Given the description of an element on the screen output the (x, y) to click on. 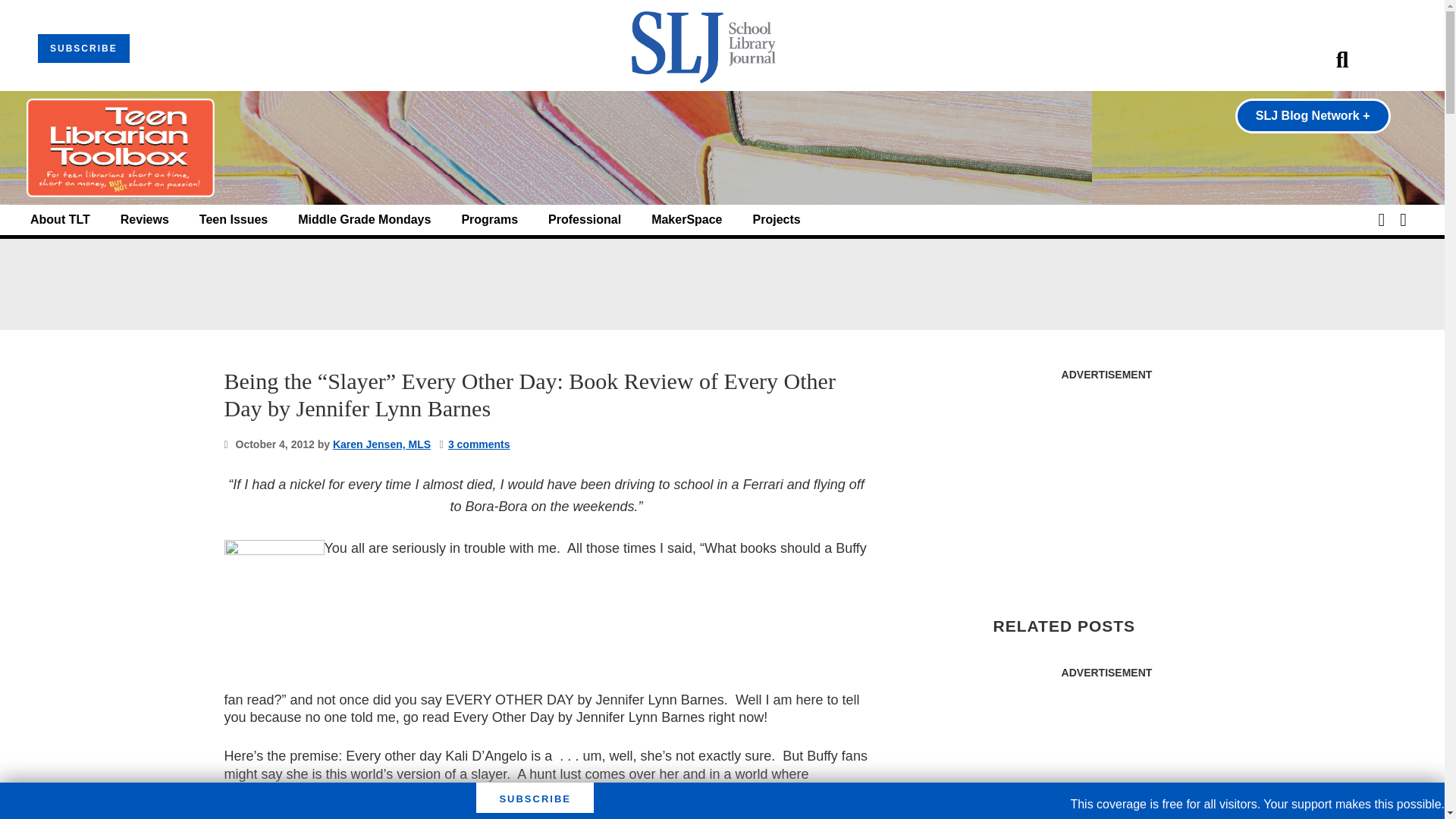
MakerSpace (686, 219)
Projects (776, 219)
Middle Grade Mondays (364, 219)
About TLT (60, 219)
Professional (584, 219)
Teen Issues (233, 219)
3rd party ad content (1106, 483)
3rd party ad content (721, 284)
SUBSCRIBE (83, 48)
3rd party ad content (1106, 753)
Programs (489, 219)
Reviews (144, 219)
